Given the description of an element on the screen output the (x, y) to click on. 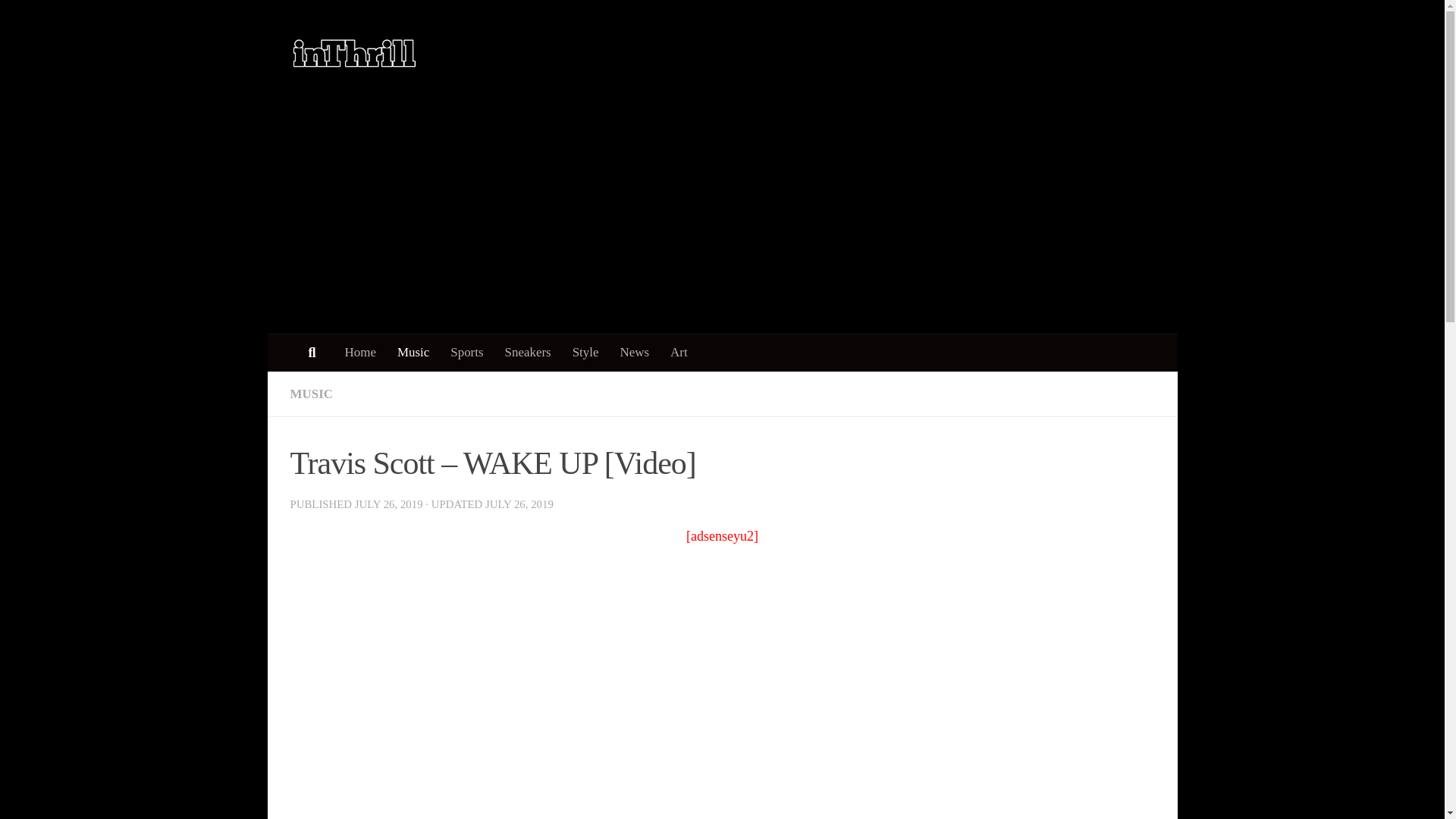
MUSIC (310, 393)
Skip to content (61, 21)
News (635, 352)
Art (678, 352)
Home (359, 352)
Style (586, 352)
Sneakers (528, 352)
Music (413, 352)
Sports (466, 352)
